Given the description of an element on the screen output the (x, y) to click on. 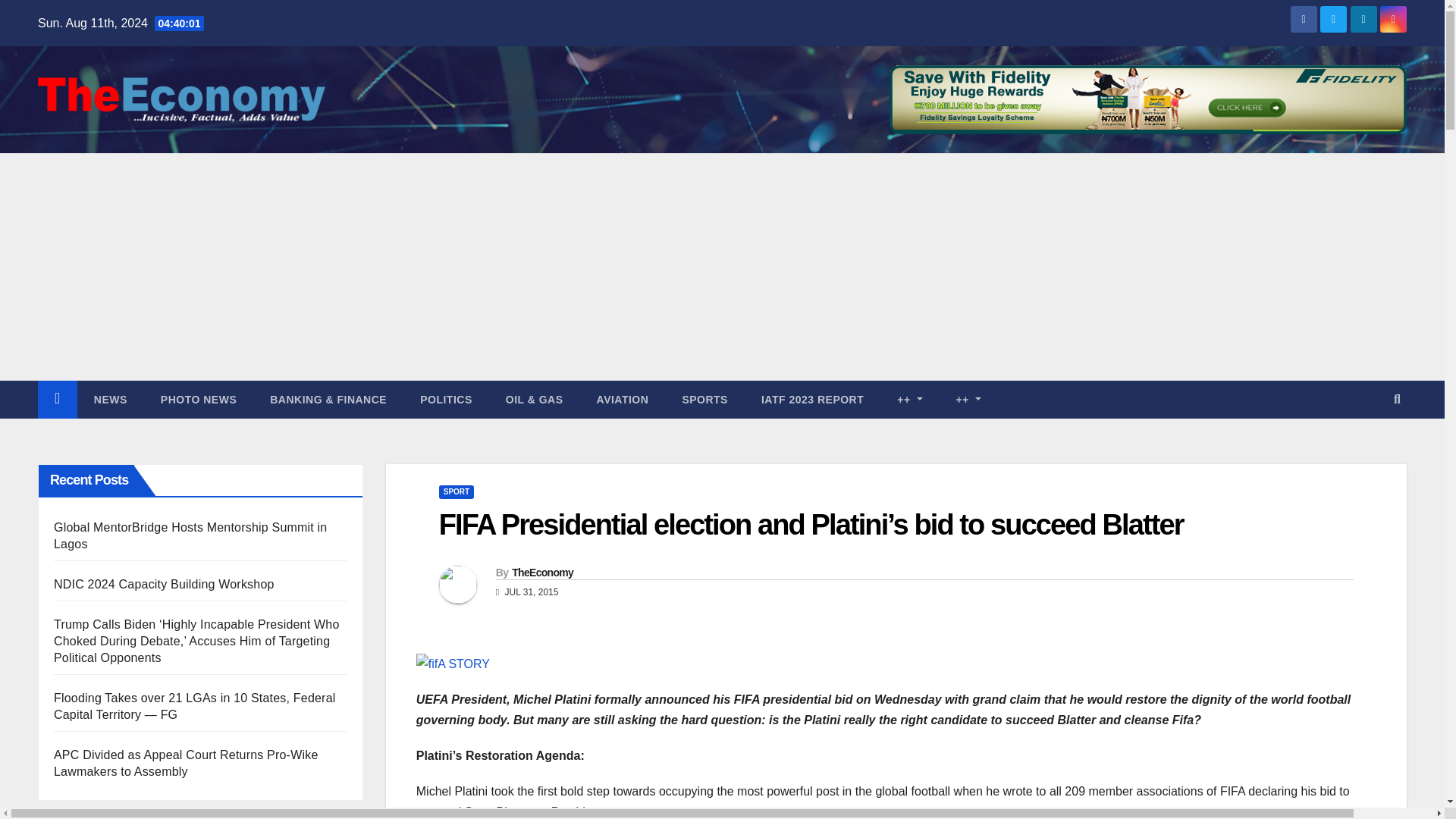
News (110, 399)
Photo News (198, 399)
Aviation (622, 399)
POLITICS (446, 399)
Sports (704, 399)
AVIATION (622, 399)
Politics (446, 399)
SPORTS (704, 399)
NEWS (110, 399)
PHOTO NEWS (198, 399)
